Given the description of an element on the screen output the (x, y) to click on. 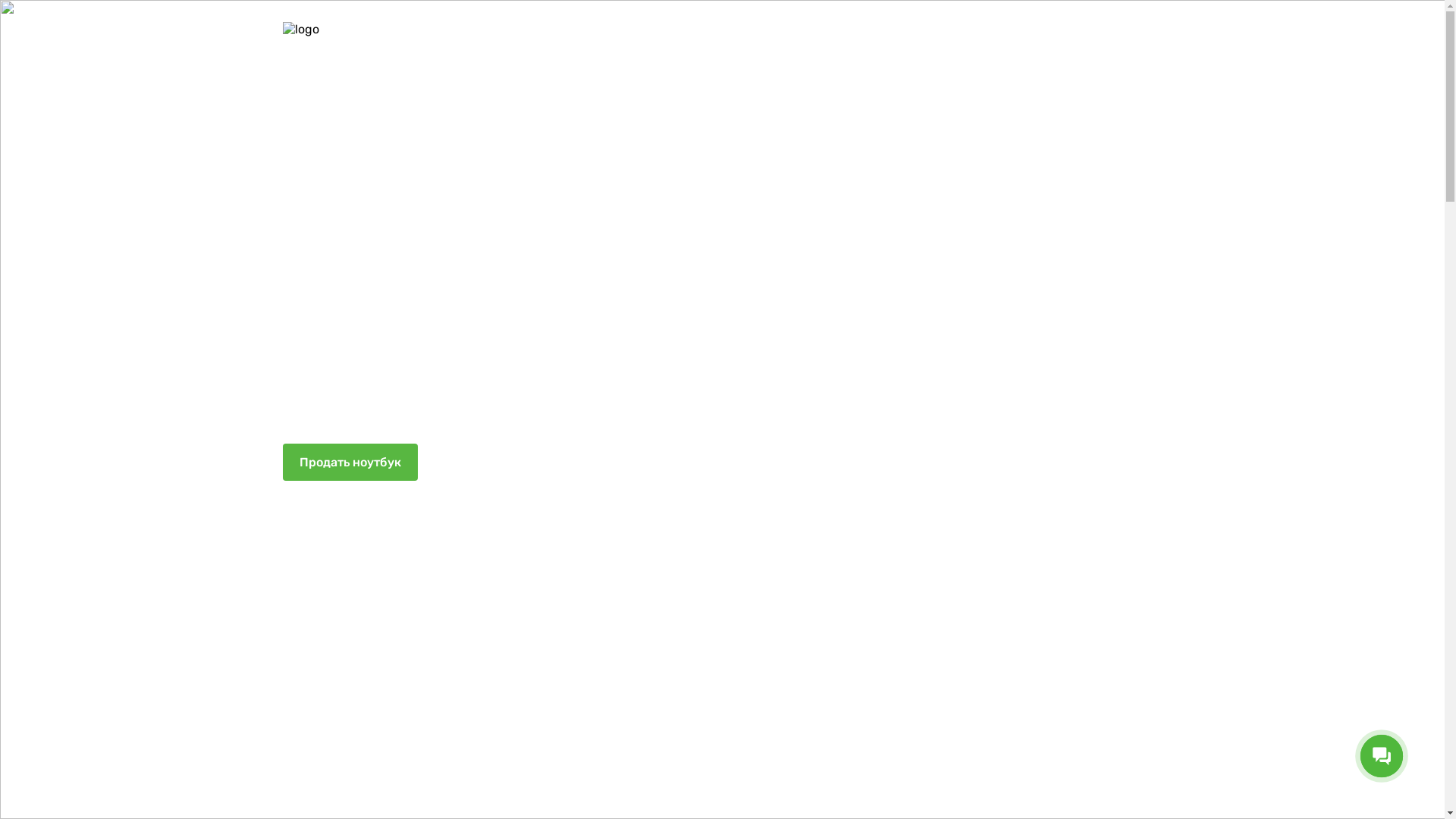
+375 (29) 843-95-29 Element type: text (1102, 28)
